Given the description of an element on the screen output the (x, y) to click on. 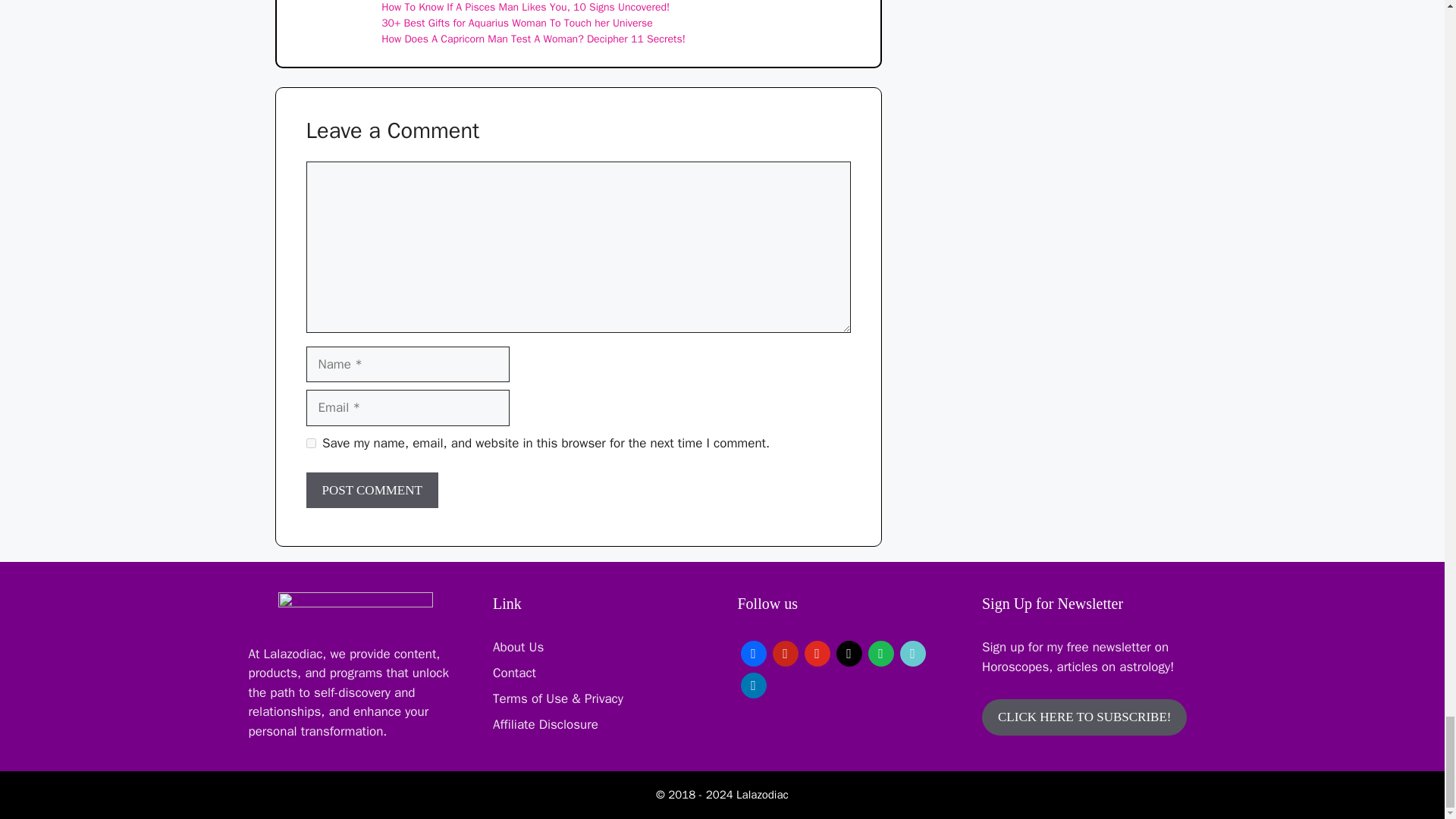
How To Know If A Pisces Man Likes You, 10 Signs Uncovered! (525, 6)
yes (310, 442)
Post Comment (371, 490)
How Does A Capricorn Man Test A Woman? Decipher 11 Secrets! (533, 38)
